Given the description of an element on the screen output the (x, y) to click on. 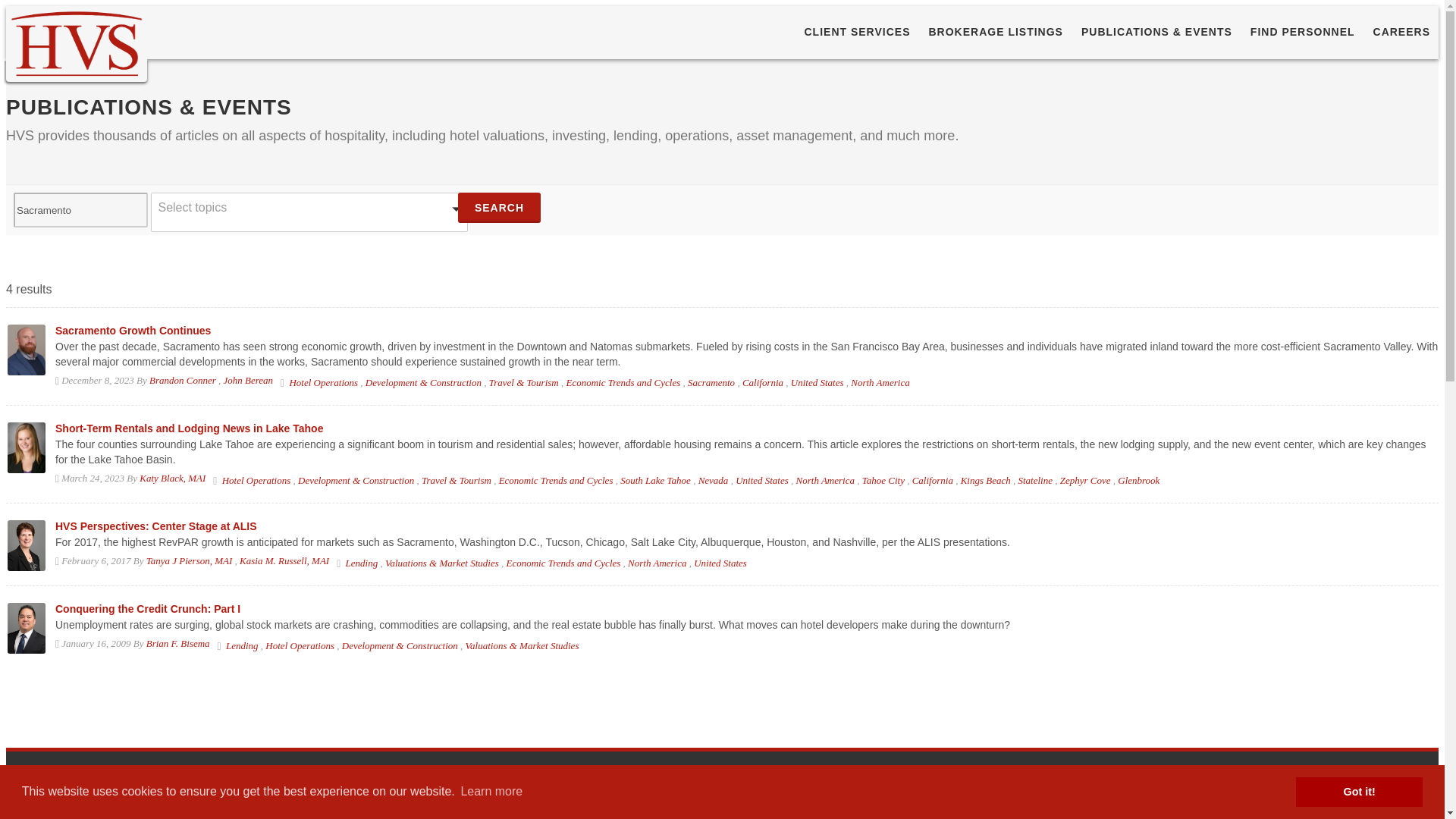
United States (817, 382)
Brandon Conner (182, 379)
Sacramento (80, 209)
BROKERAGE LISTINGS (995, 31)
Katy Black, MAI (172, 478)
Got it! (1358, 791)
John Berean (248, 379)
Sacramento (711, 382)
Learn more (491, 791)
Select topics (309, 211)
Economic Trends and Cycles (622, 382)
North America (879, 382)
SEARCH (499, 207)
Sacramento Growth Continues (133, 330)
Hotel Operations (323, 382)
